Given the description of an element on the screen output the (x, y) to click on. 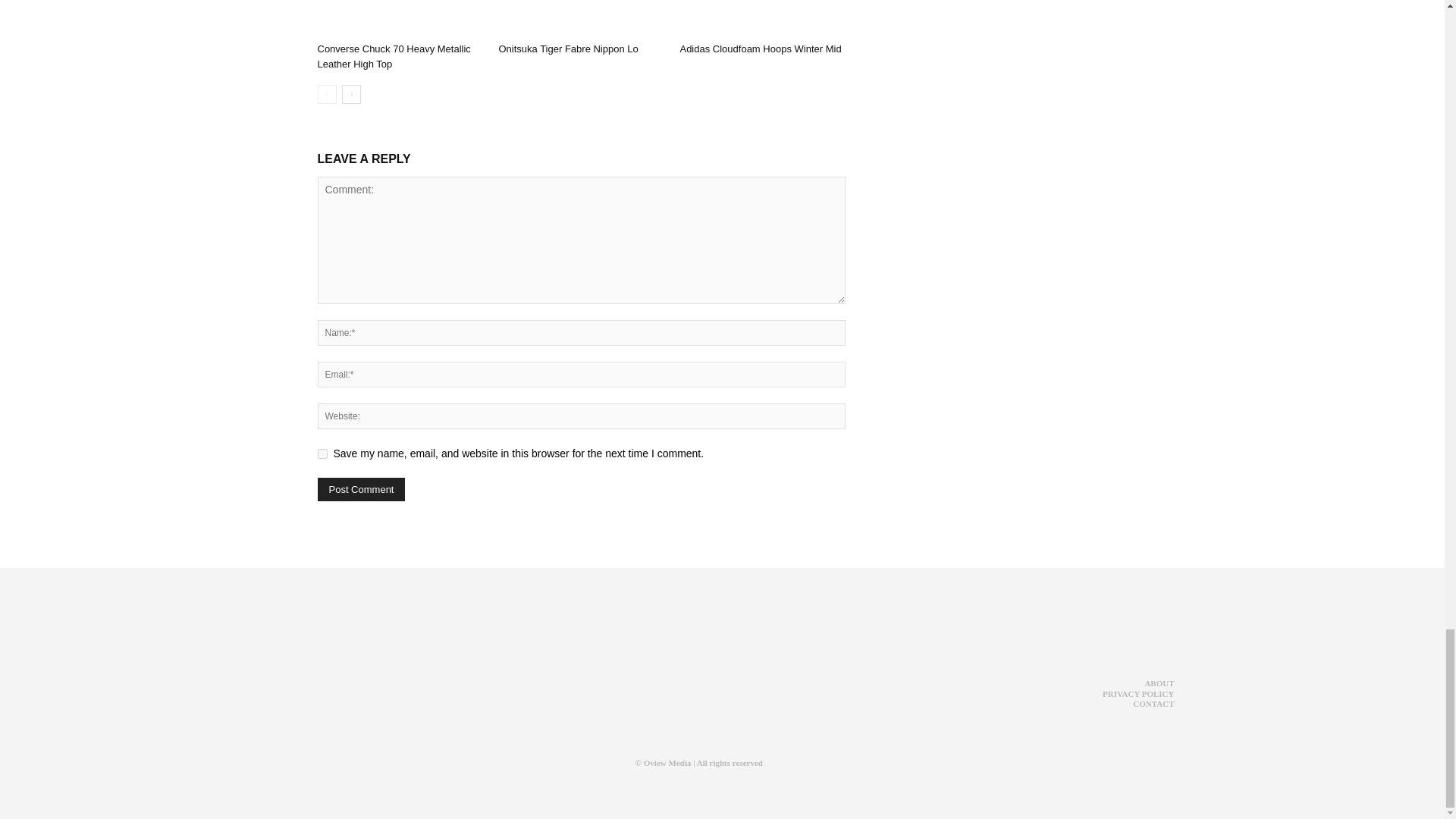
yes (321, 453)
Post Comment (360, 489)
